Given the description of an element on the screen output the (x, y) to click on. 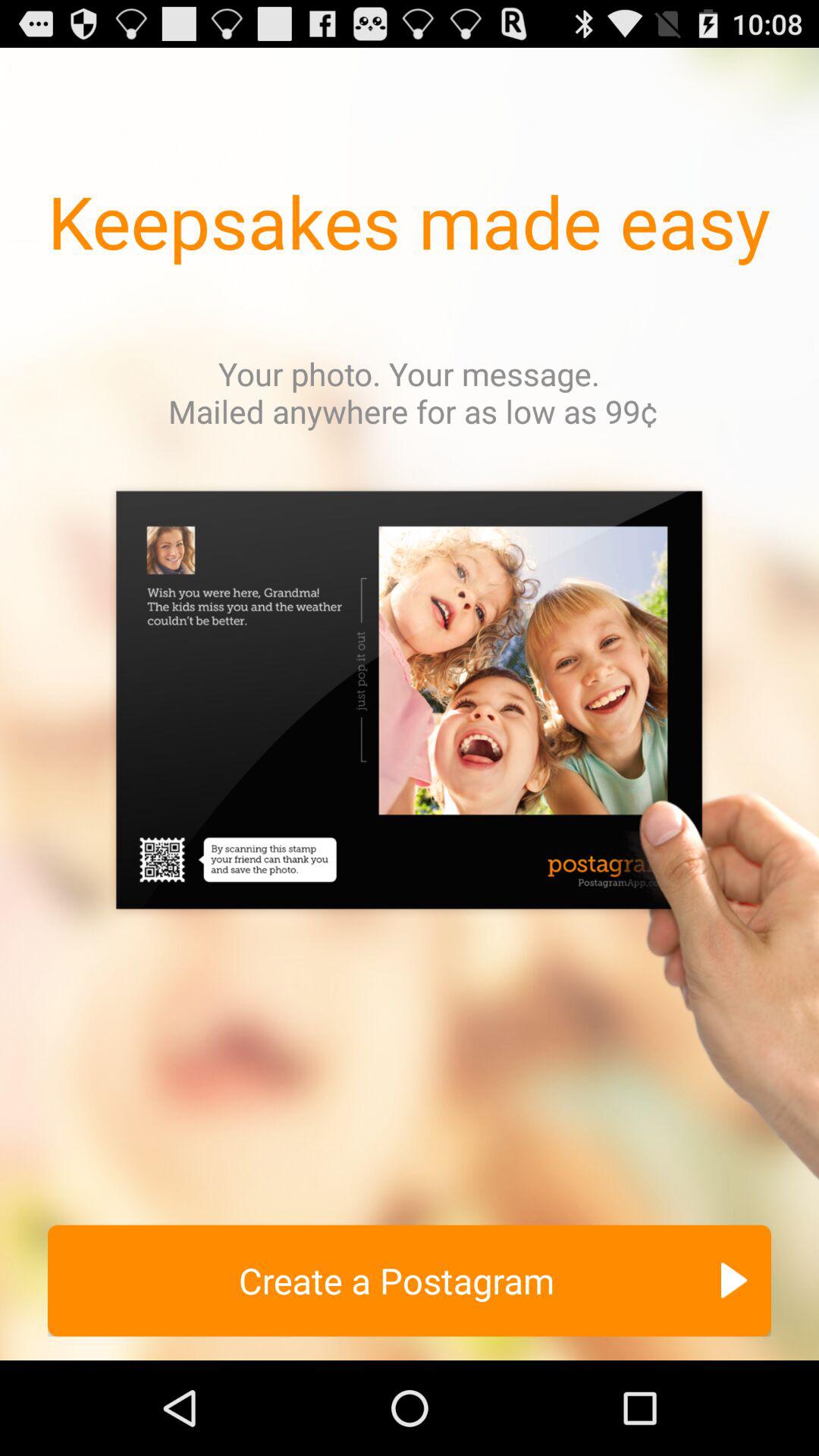
postagram icon (409, 840)
